Given the description of an element on the screen output the (x, y) to click on. 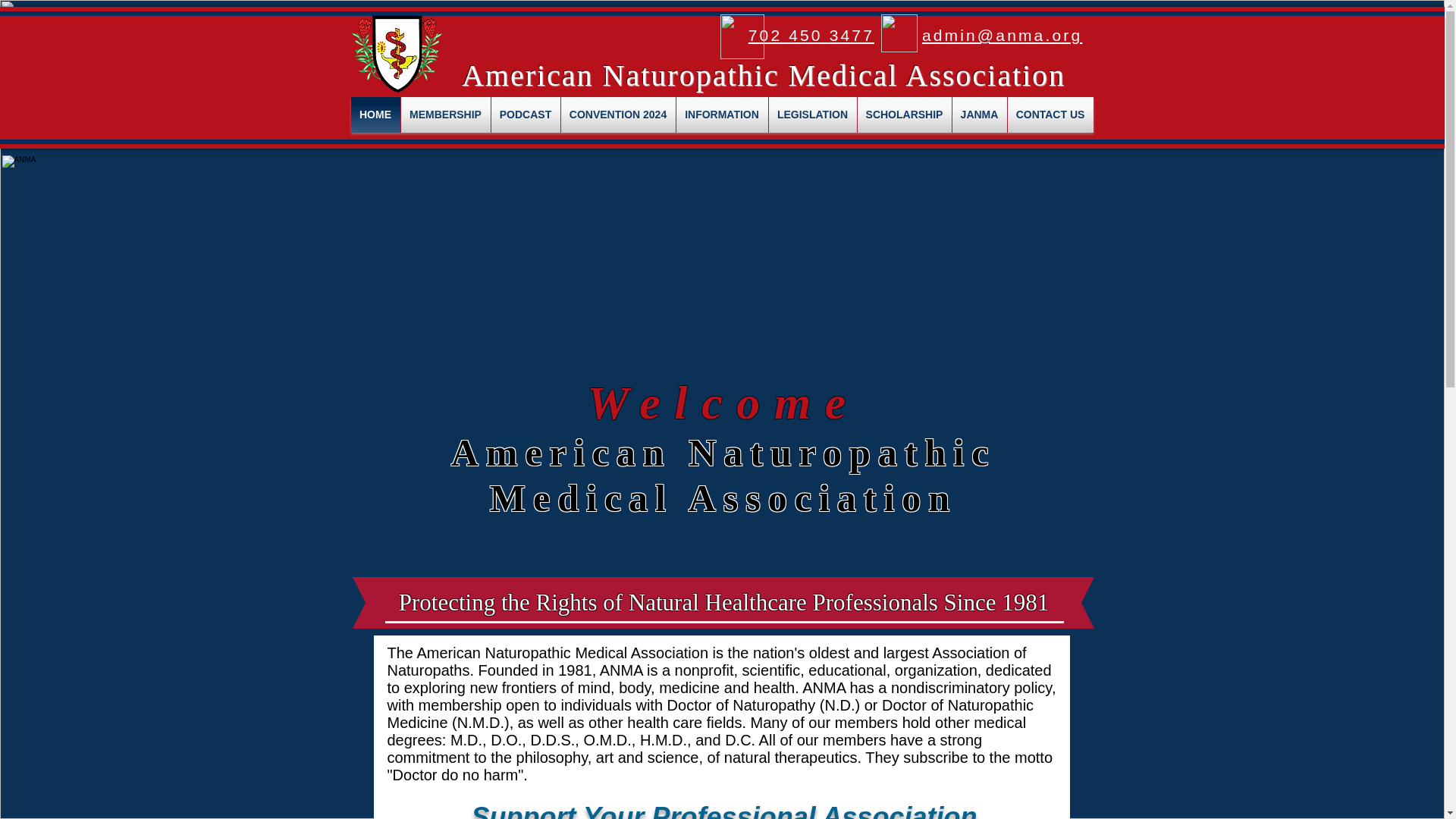
702 450 3477 (811, 35)
JANMA (979, 114)
INFORMATION (722, 114)
LEGISLATION (812, 114)
SCHOLARSHIP (903, 114)
MEMBERSHIP (444, 114)
PODCAST (526, 114)
CONVENTION 2024 (617, 114)
CONTACT US (1050, 114)
HOME (374, 114)
